Given the description of an element on the screen output the (x, y) to click on. 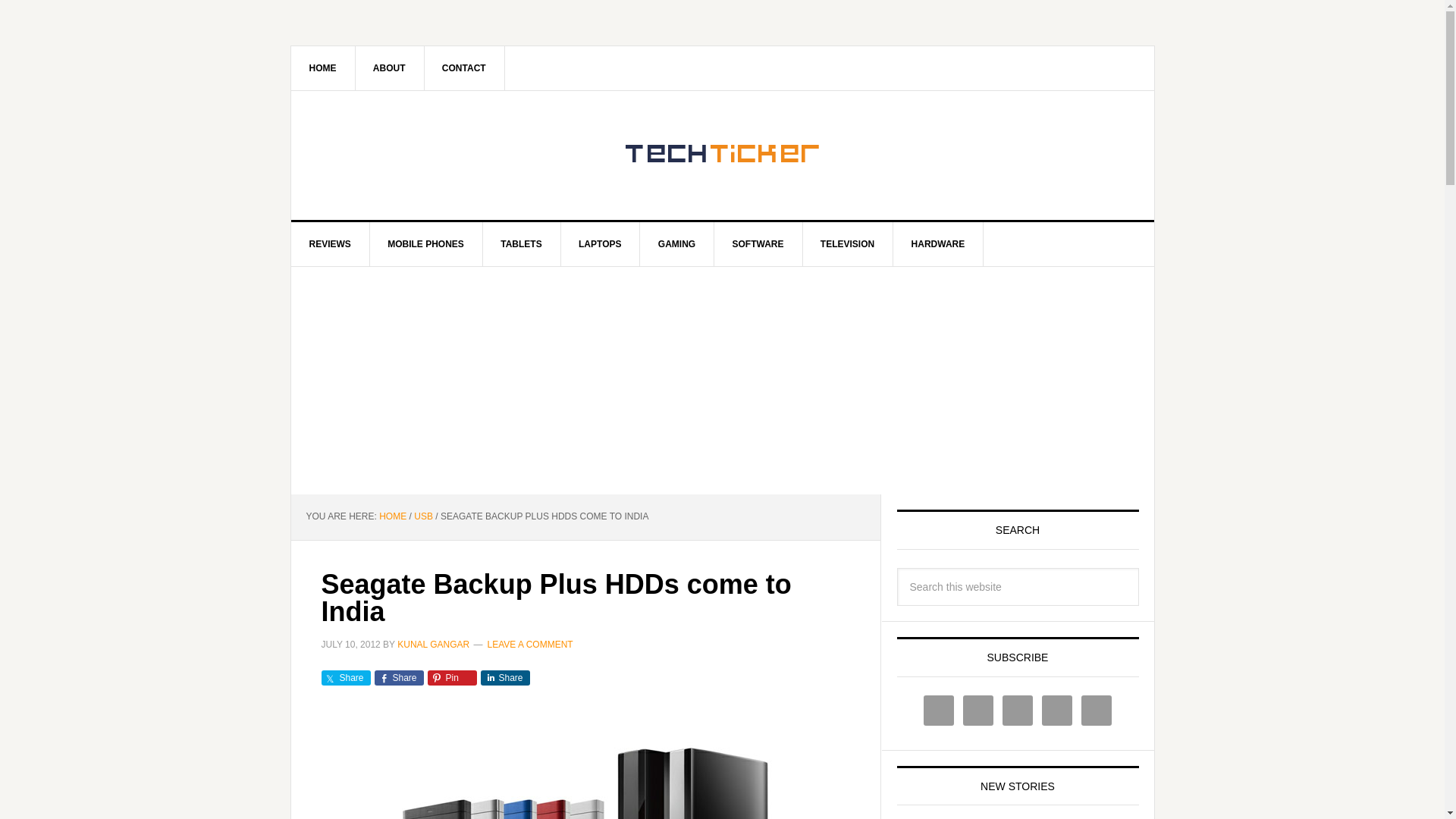
HOME (392, 516)
CONTACT (464, 67)
Share (398, 677)
USB (422, 516)
LAPTOPS (600, 243)
MOBILE PHONES (426, 243)
HARDWARE (938, 243)
LEAVE A COMMENT (530, 643)
SOFTWARE (758, 243)
Share (504, 677)
TELEVISION (847, 243)
TECH TICKER (722, 155)
REVIEWS (330, 243)
Pin (452, 677)
